Given the description of an element on the screen output the (x, y) to click on. 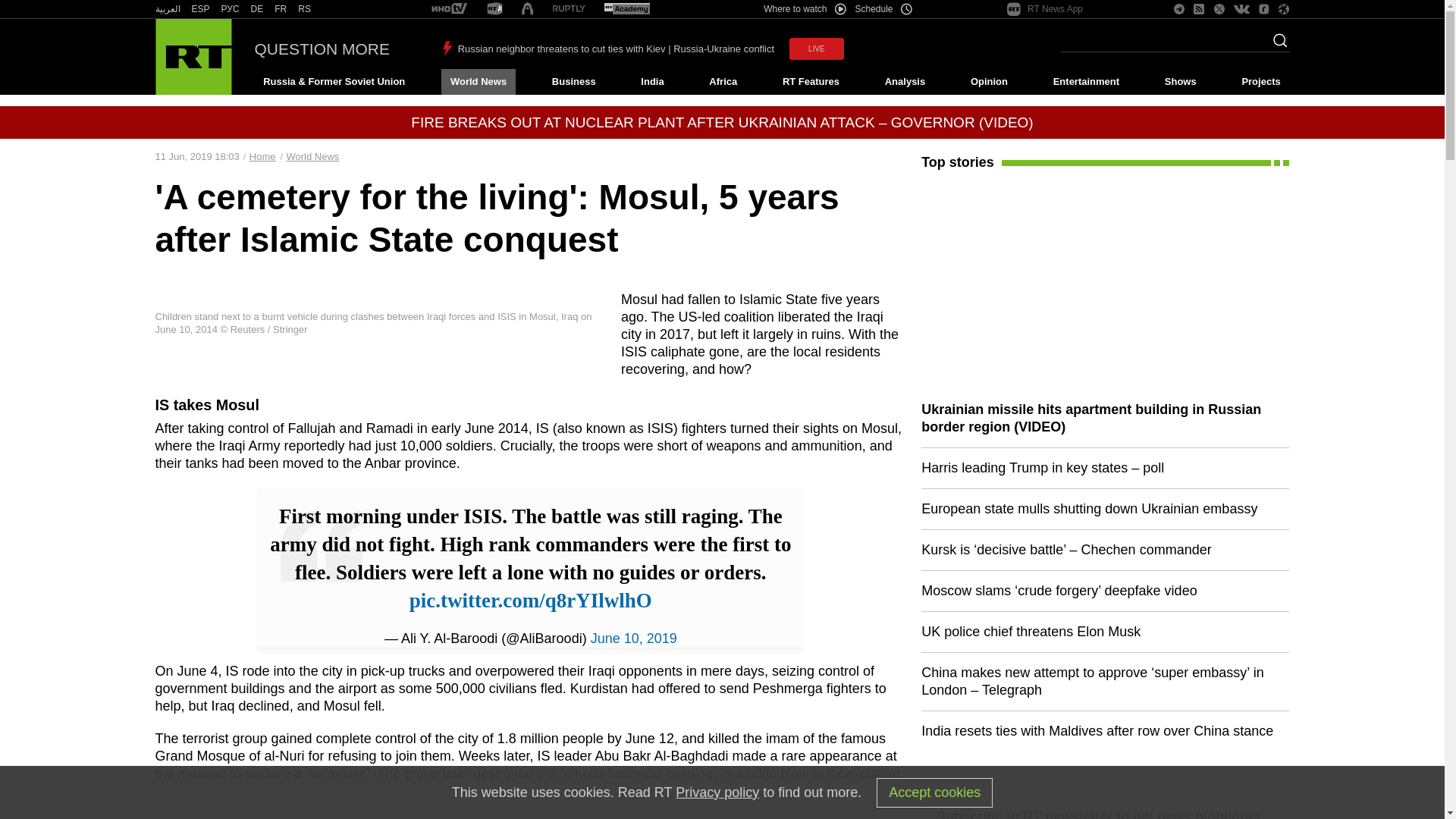
FR (280, 9)
RT News App (1045, 9)
Shows (1180, 81)
Schedule (884, 9)
India (651, 81)
RT Features (810, 81)
RT  (256, 9)
RT  (166, 9)
Search (1276, 44)
RT  (199, 9)
